Given the description of an element on the screen output the (x, y) to click on. 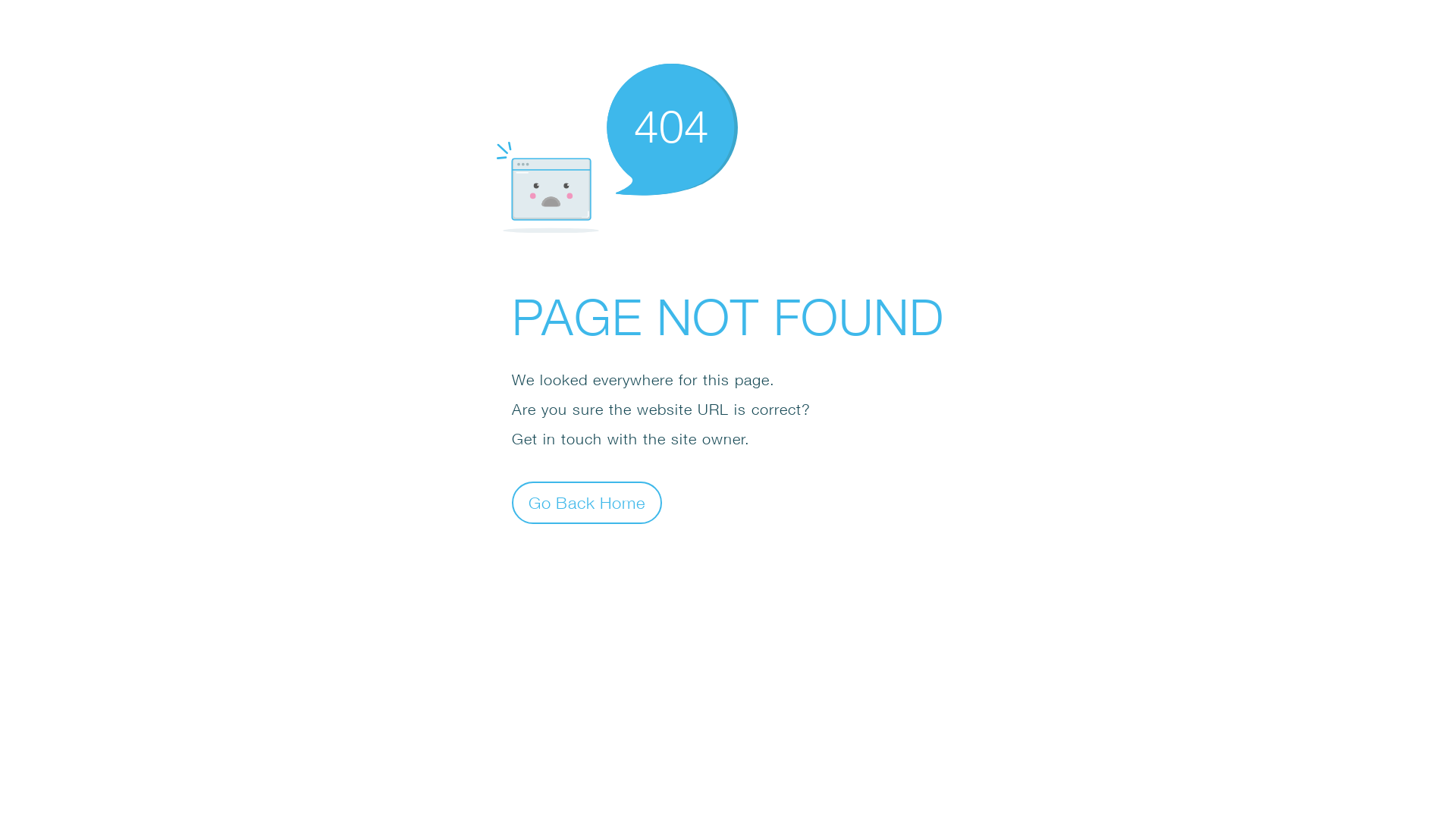
Go Back Home Element type: text (586, 502)
